Given the description of an element on the screen output the (x, y) to click on. 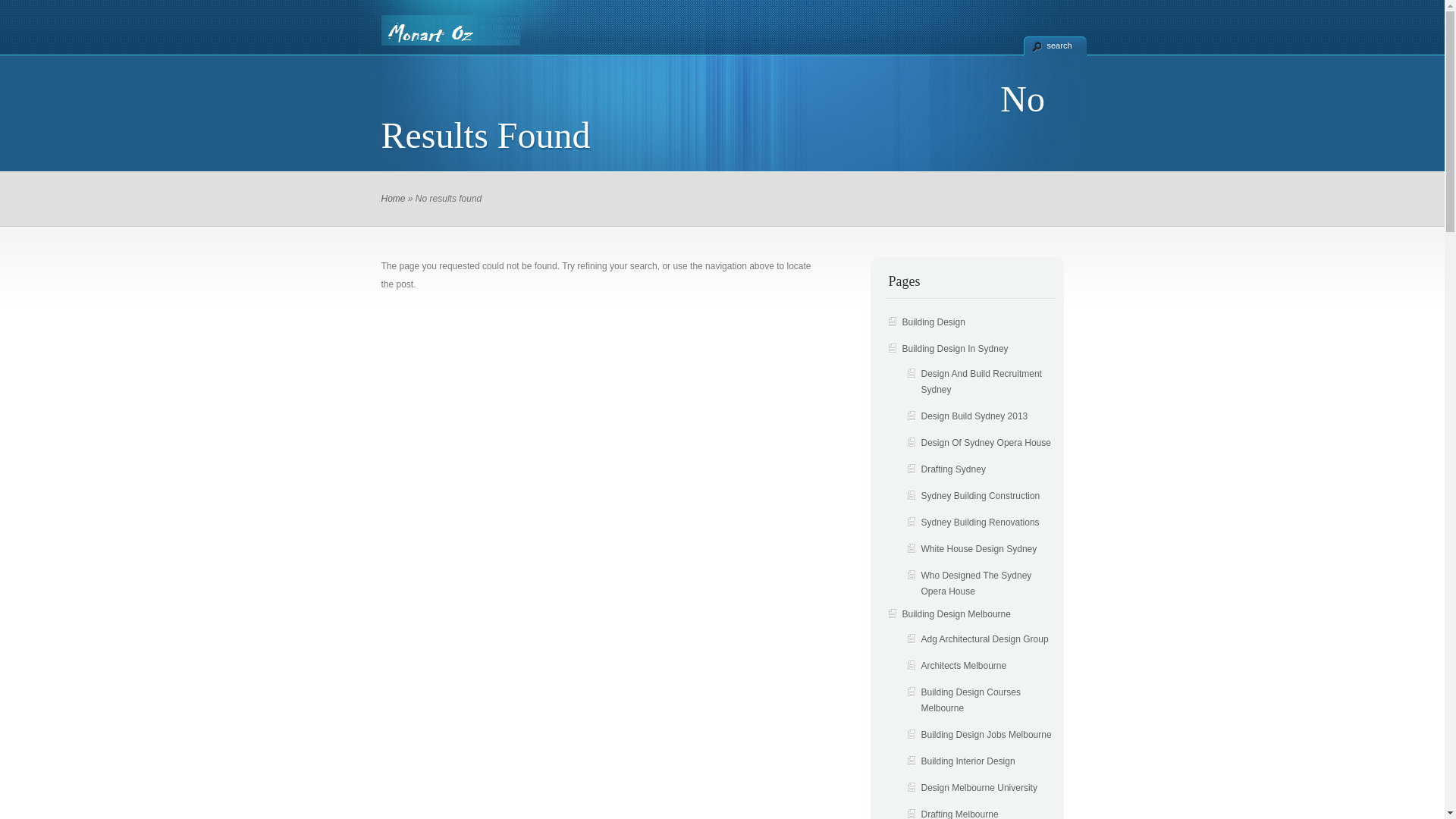
Building Design Courses Melbourne Element type: text (969, 700)
Building Design Element type: text (780, 79)
Adg Architectural Design Group Element type: text (984, 638)
search Element type: text (1054, 45)
Sydney Building Renovations Element type: text (979, 522)
White House Design Sydney Element type: text (978, 548)
Building Design Element type: text (933, 321)
Stonex Element type: text (969, 79)
Contact Us Element type: text (470, 79)
Building Interior Design Element type: text (967, 761)
Design Build Sydney 2013 Element type: text (973, 416)
Building Design Melbourne Element type: text (956, 613)
Drafting Sydney Element type: text (952, 469)
Home Element type: text (392, 198)
Building Design In Sydney Element type: text (955, 348)
Our Privacy Policy Element type: text (559, 79)
Bunneys Appliances Element type: text (885, 79)
Home Element type: text (410, 79)
Building Design Jobs Melbourne Element type: text (985, 734)
Building Design NSW Element type: text (673, 79)
Design Of Sydney Opera House Element type: text (985, 442)
Design And Build Recruitment Sydney Element type: text (980, 381)
Sydney Building Construction Element type: text (979, 495)
Design Melbourne University Element type: text (978, 787)
Architects Melbourne Element type: text (963, 665)
Who Designed The Sydney Opera House Element type: text (975, 583)
